Given the description of an element on the screen output the (x, y) to click on. 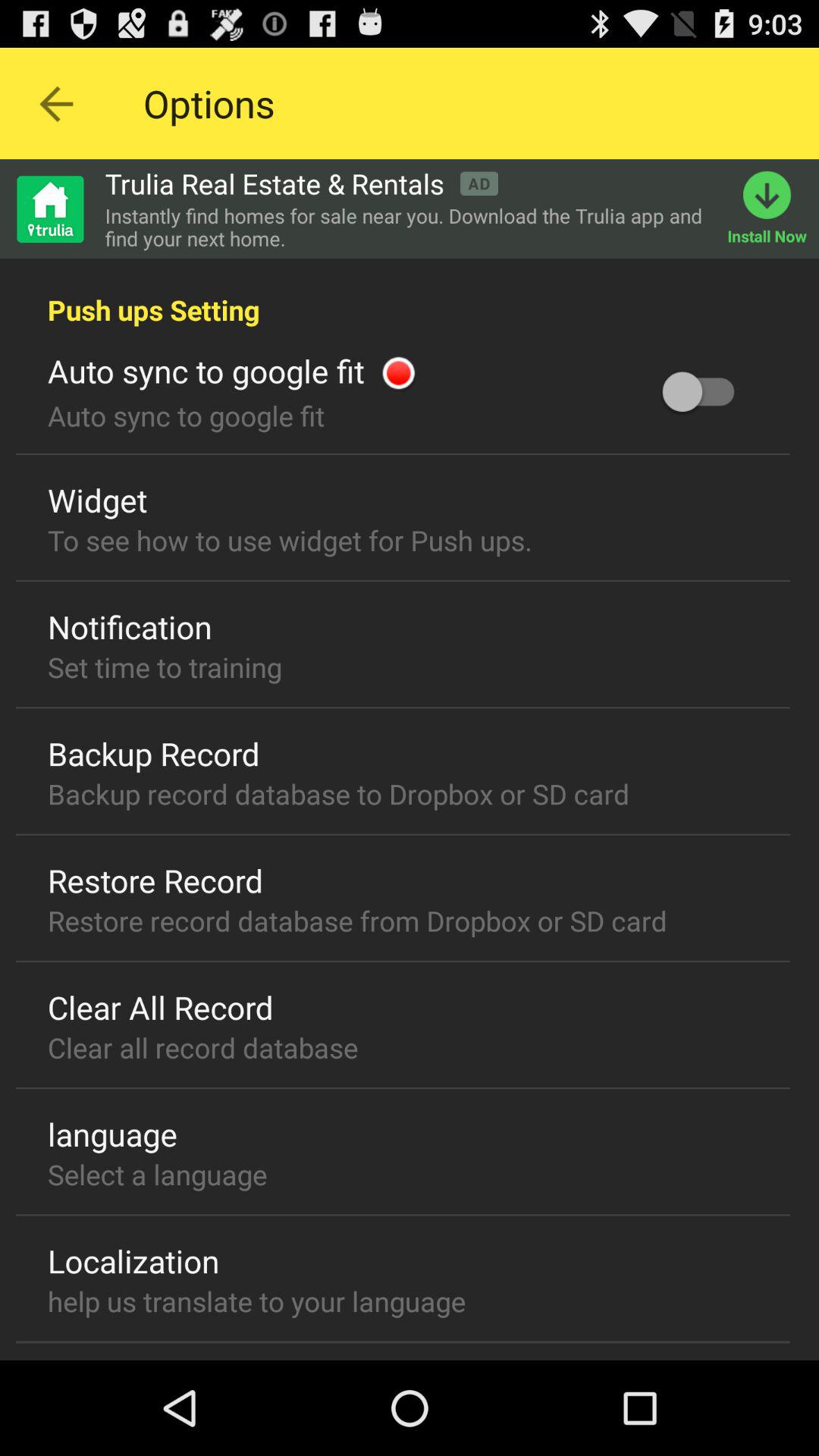
prior page arrow (55, 103)
